Given the description of an element on the screen output the (x, y) to click on. 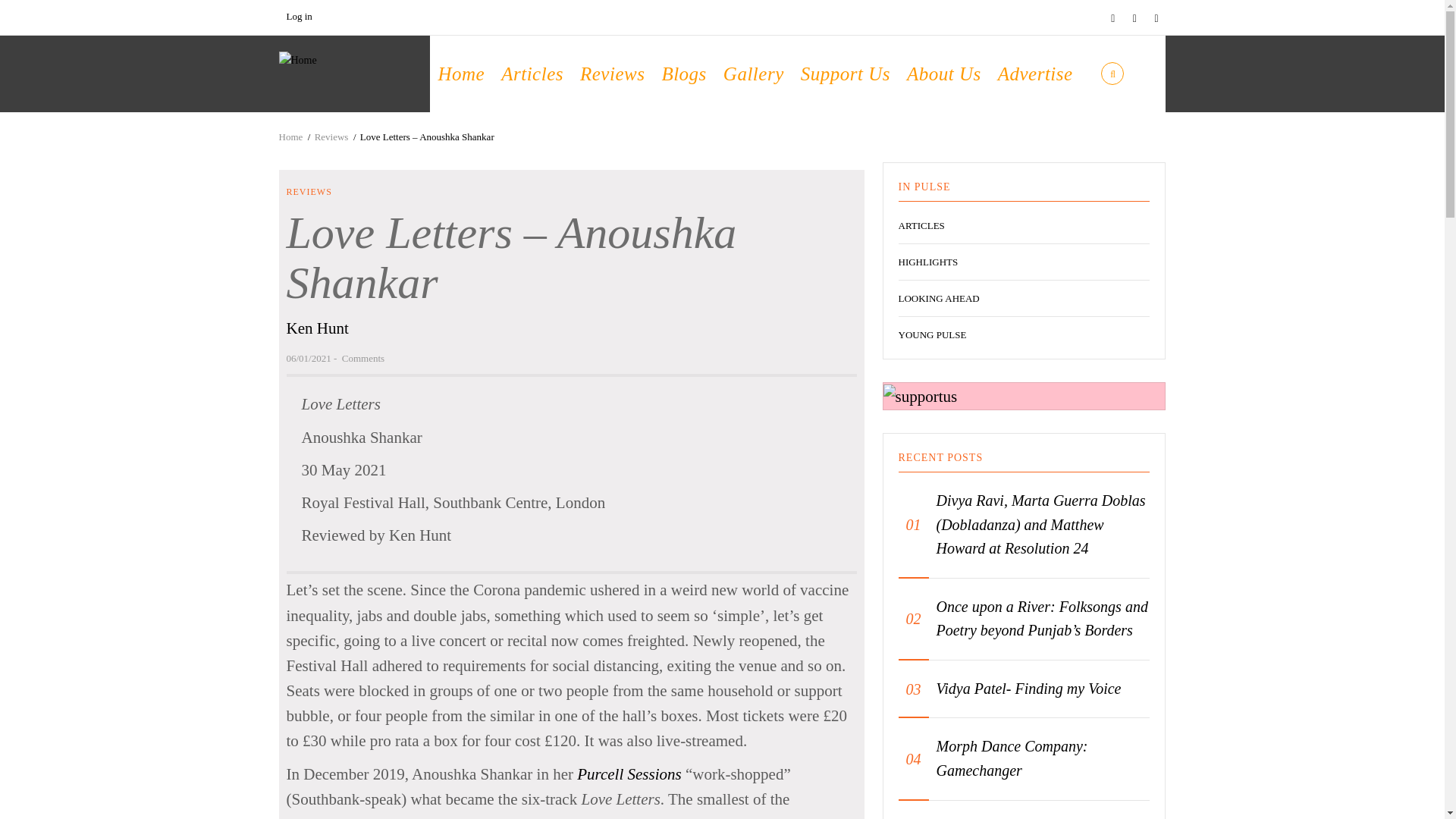
Support Us (845, 74)
About Us (944, 74)
REVIEWS (308, 192)
Home (298, 59)
Search (1044, 135)
Articles (532, 74)
Gallery (753, 74)
Advertise (1035, 74)
Purcell Sessions (628, 773)
Ken Hunt (317, 328)
